Given the description of an element on the screen output the (x, y) to click on. 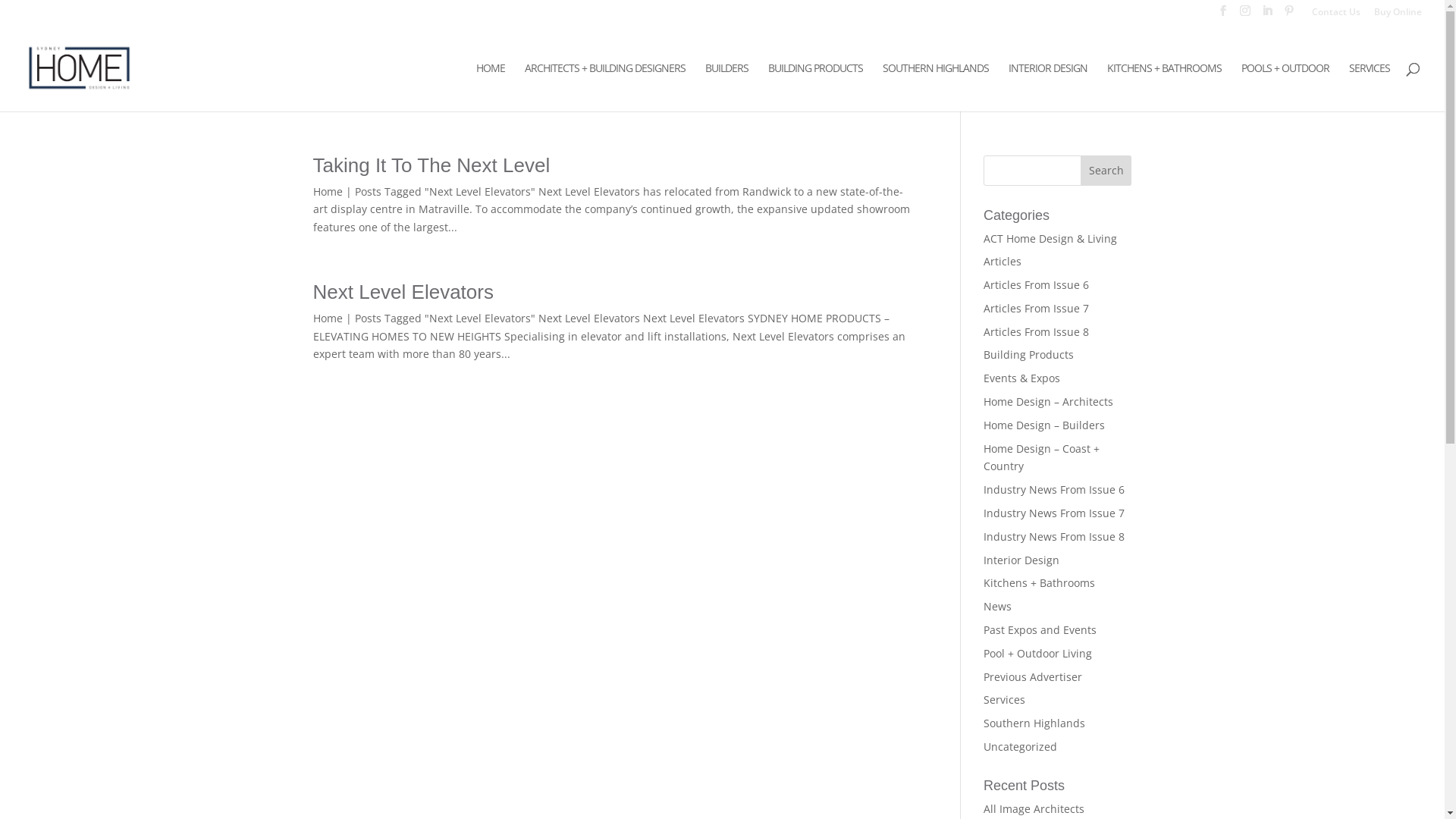
Taking It To The Next Level Element type: text (430, 164)
Industry News From Issue 8 Element type: text (1053, 536)
Building Products Element type: text (1028, 354)
Articles From Issue 6 Element type: text (1035, 284)
POOLS + OUTDOOR Element type: text (1285, 86)
Contact Us Element type: text (1335, 15)
Uncategorized Element type: text (1020, 746)
Services Element type: text (1004, 699)
INTERIOR DESIGN Element type: text (1047, 86)
BUILDING PRODUCTS Element type: text (815, 86)
Past Expos and Events Element type: text (1039, 629)
Next Level Elevators Element type: text (402, 291)
ARCHITECTS + BUILDING DESIGNERS Element type: text (604, 86)
All Image Architects Element type: text (1033, 808)
Articles Element type: text (1002, 261)
Pool + Outdoor Living Element type: text (1037, 653)
BUILDERS Element type: text (726, 86)
Kitchens + Bathrooms Element type: text (1039, 582)
News Element type: text (997, 606)
Industry News From Issue 6 Element type: text (1053, 489)
SERVICES Element type: text (1369, 86)
Southern Highlands Element type: text (1034, 722)
KITCHENS + BATHROOMS Element type: text (1164, 86)
Buy Online Element type: text (1397, 15)
Articles From Issue 8 Element type: text (1035, 331)
Events & Expos Element type: text (1021, 377)
Previous Advertiser Element type: text (1032, 676)
Interior Design Element type: text (1021, 559)
HOME Element type: text (490, 86)
Search Element type: text (1106, 169)
Industry News From Issue 7 Element type: text (1053, 512)
SOUTHERN HIGHLANDS Element type: text (935, 86)
ACT Home Design & Living Element type: text (1050, 237)
Articles From Issue 7 Element type: text (1035, 308)
